Given the description of an element on the screen output the (x, y) to click on. 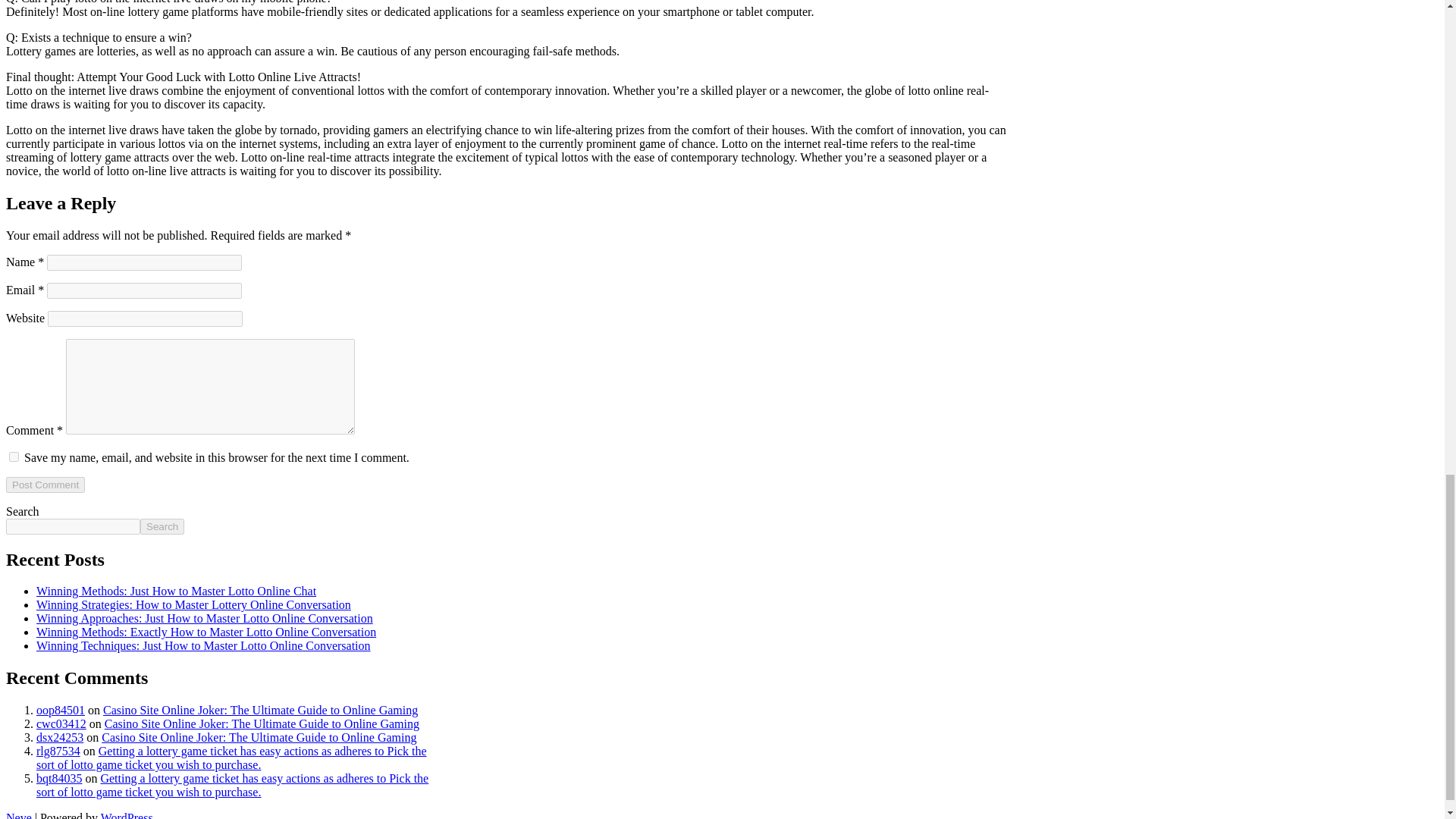
bqt84035 (58, 778)
dsx24253 (59, 737)
Winning Methods: Just How to Master Lotto Online Chat (175, 590)
rlg87534 (58, 750)
Post Comment (44, 484)
Post Comment (44, 484)
oop84501 (60, 709)
cwc03412 (60, 723)
Search (161, 526)
